Given the description of an element on the screen output the (x, y) to click on. 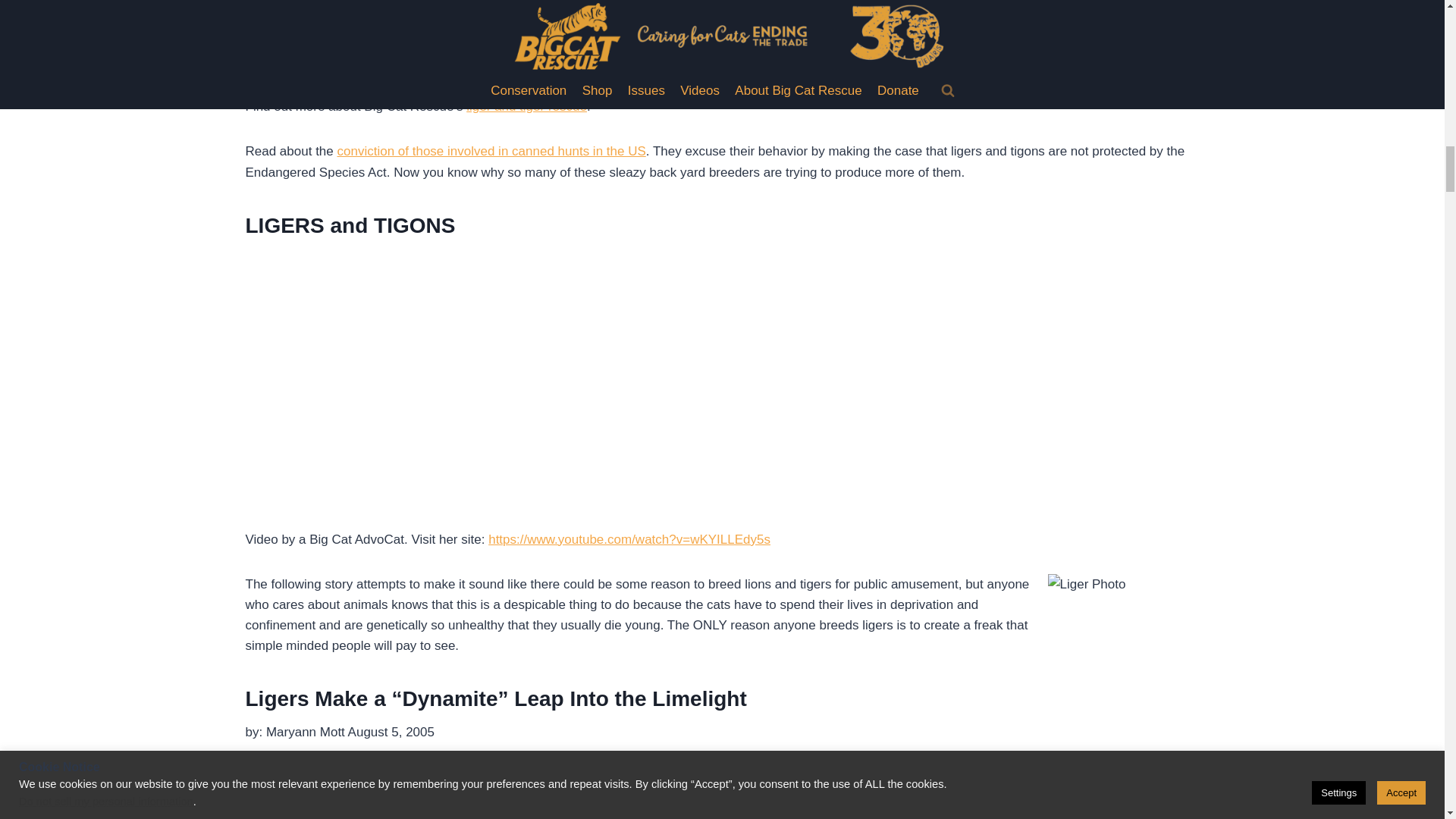
liger and tiger rescue (525, 106)
conviction of those involved in canned hunts in the US (490, 151)
